Given the description of an element on the screen output the (x, y) to click on. 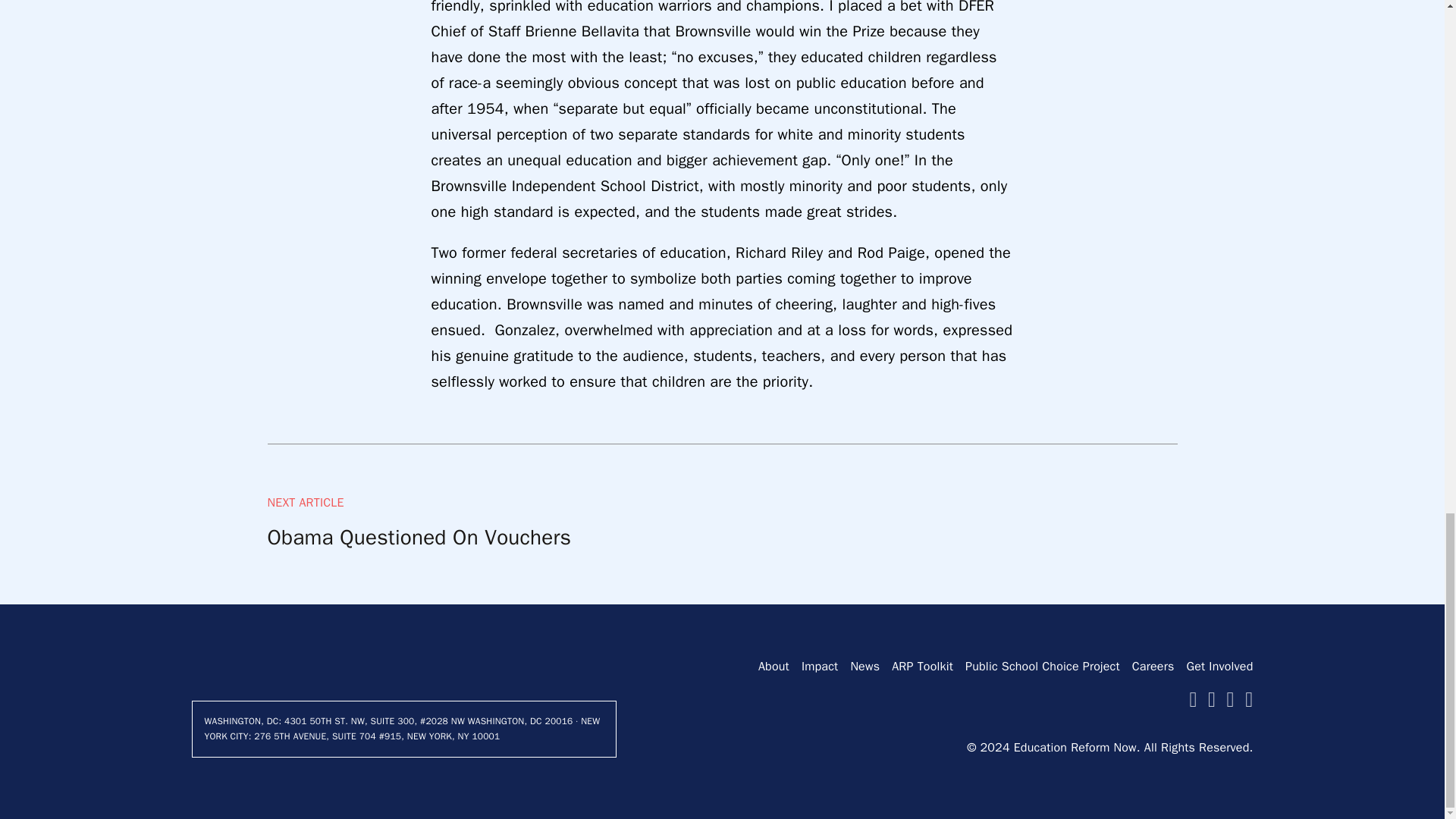
About (773, 666)
Obama Questioned On Vouchers (418, 537)
Careers (1153, 666)
News (864, 666)
Public School Choice Project (1042, 666)
Impact (820, 666)
ARP Toolkit (922, 666)
